Given the description of an element on the screen output the (x, y) to click on. 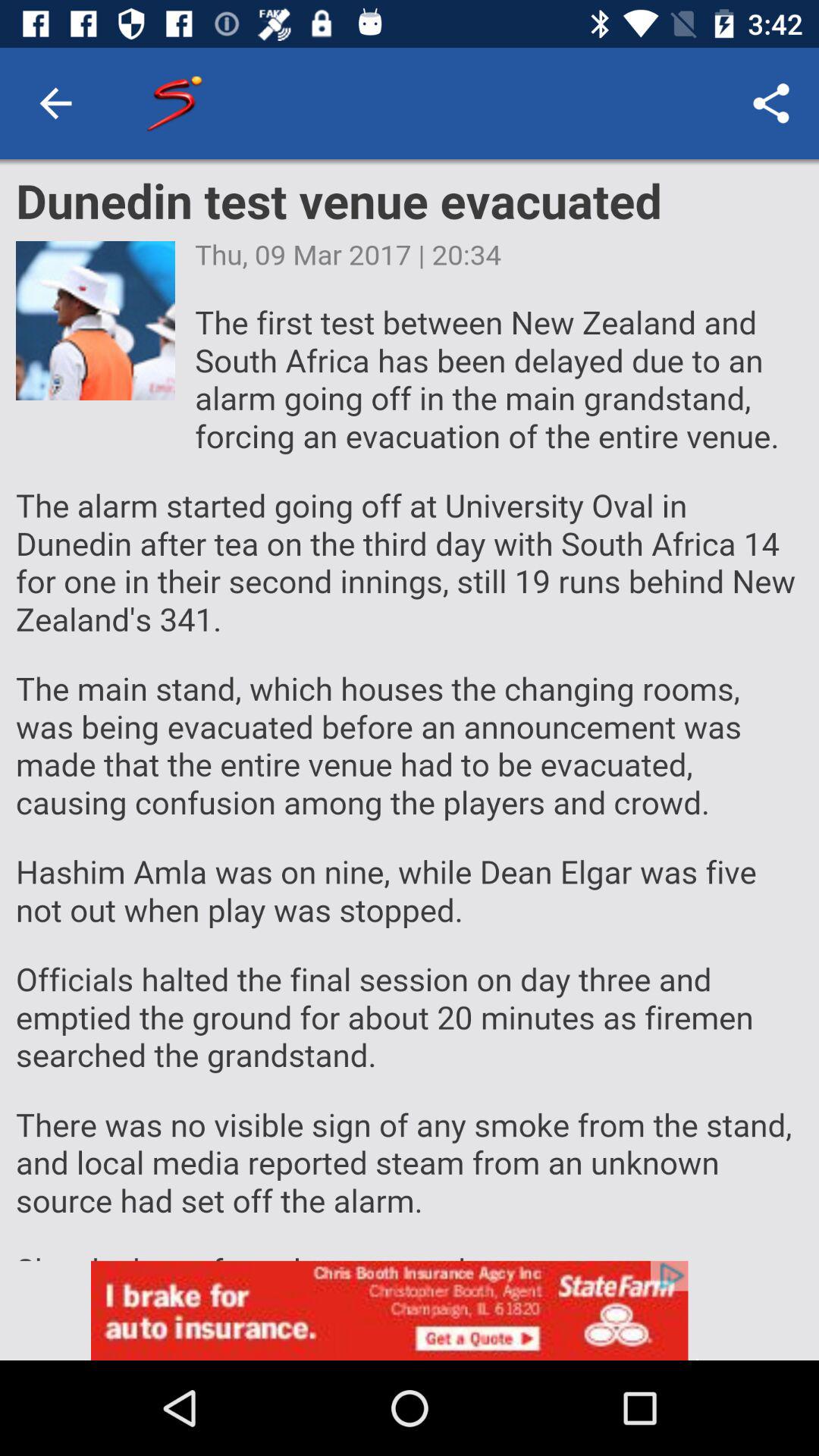
website content (409, 709)
